Given the description of an element on the screen output the (x, y) to click on. 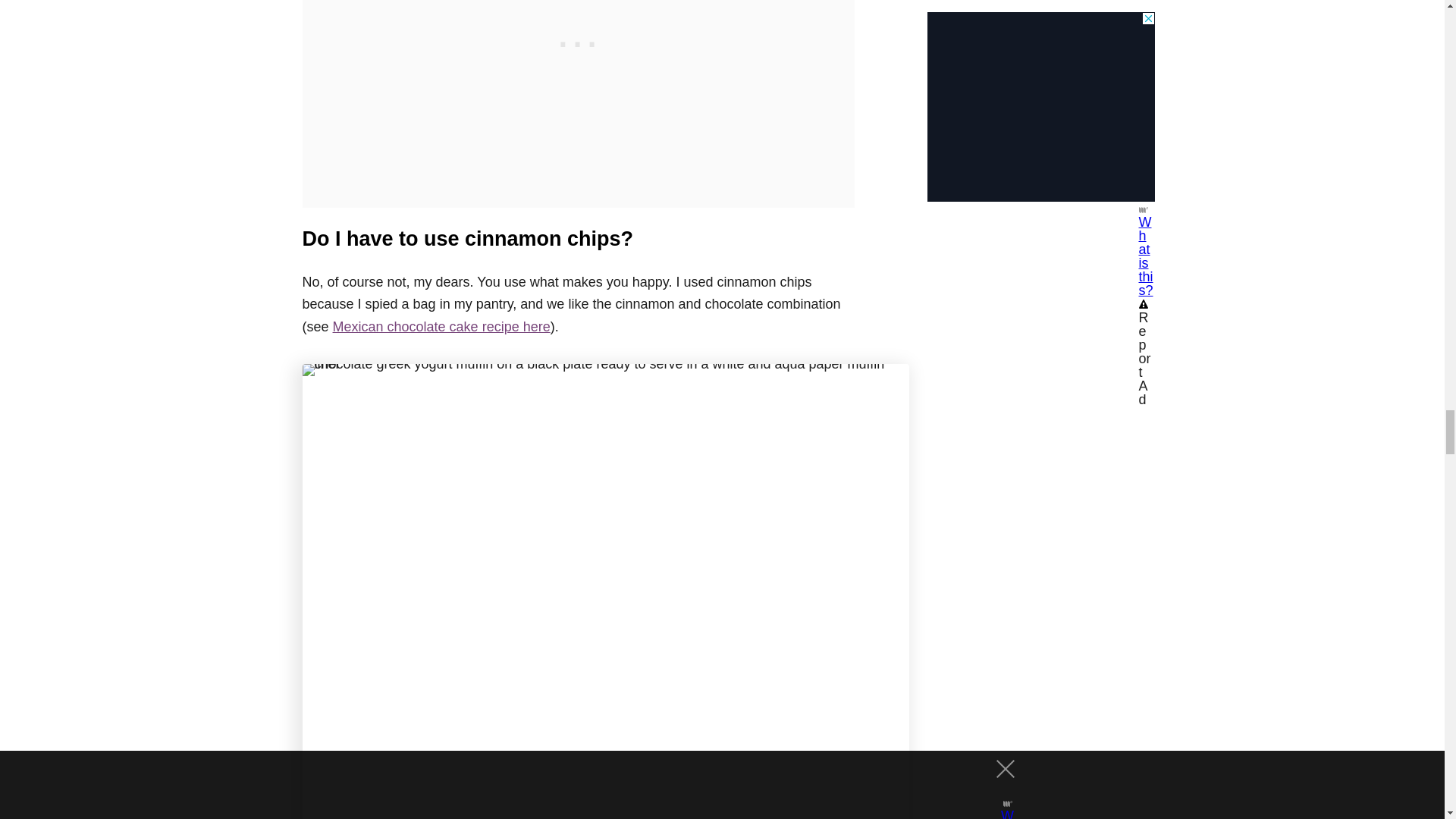
Mexican chocolate cake recipe here (441, 326)
